Given the description of an element on the screen output the (x, y) to click on. 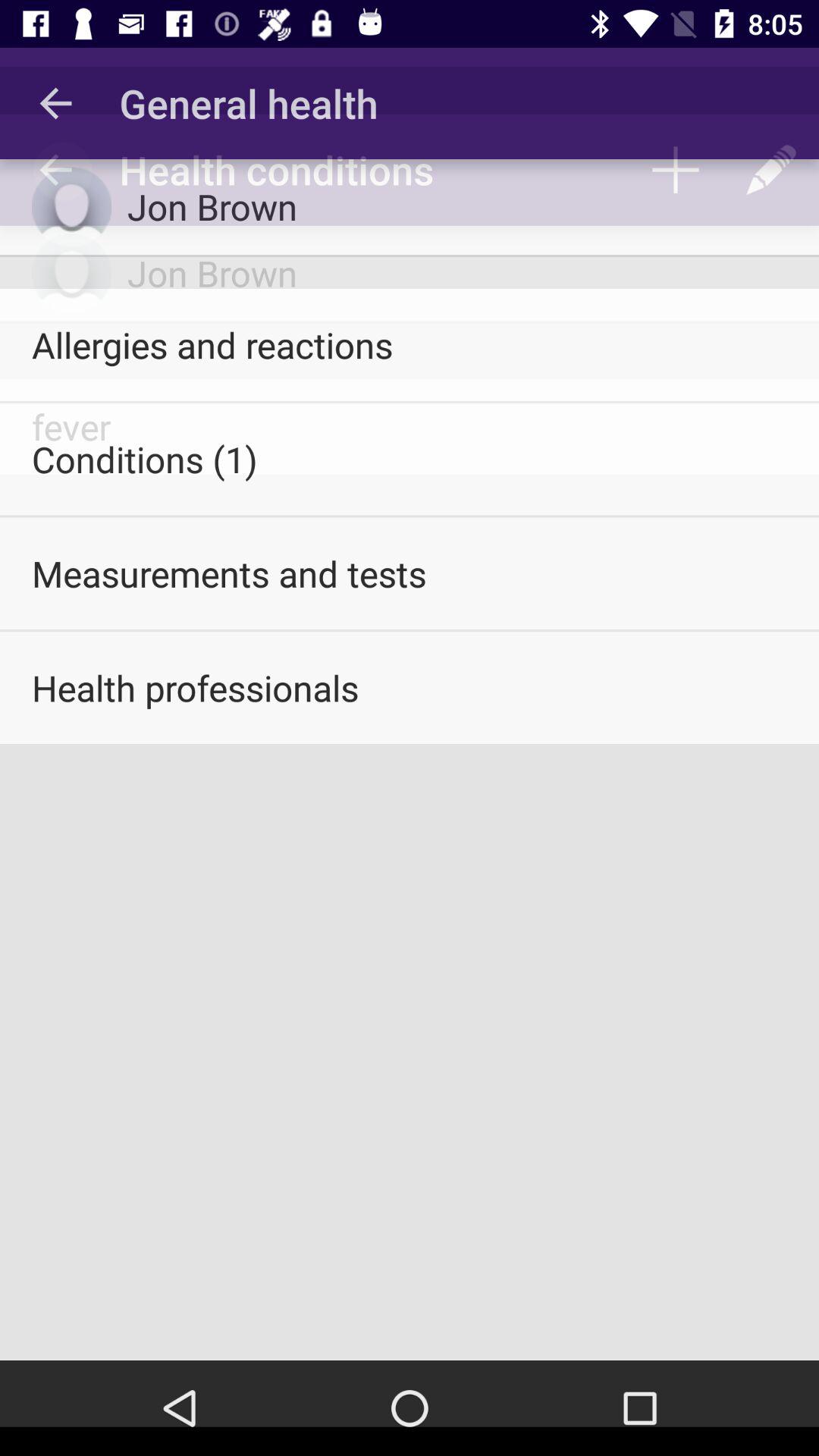
tap icon to the left of the general health icon (55, 103)
